Given the description of an element on the screen output the (x, y) to click on. 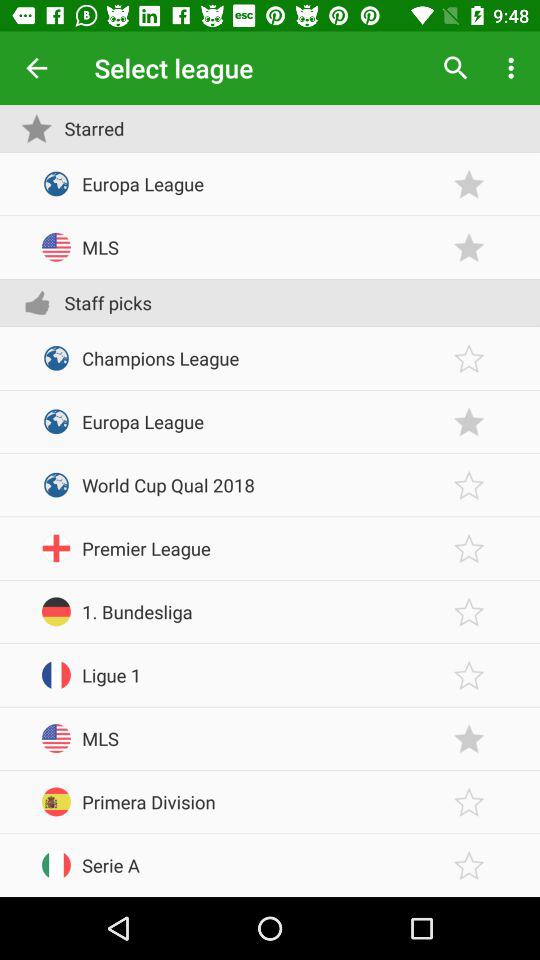
toggle favorite option (469, 358)
